Given the description of an element on the screen output the (x, y) to click on. 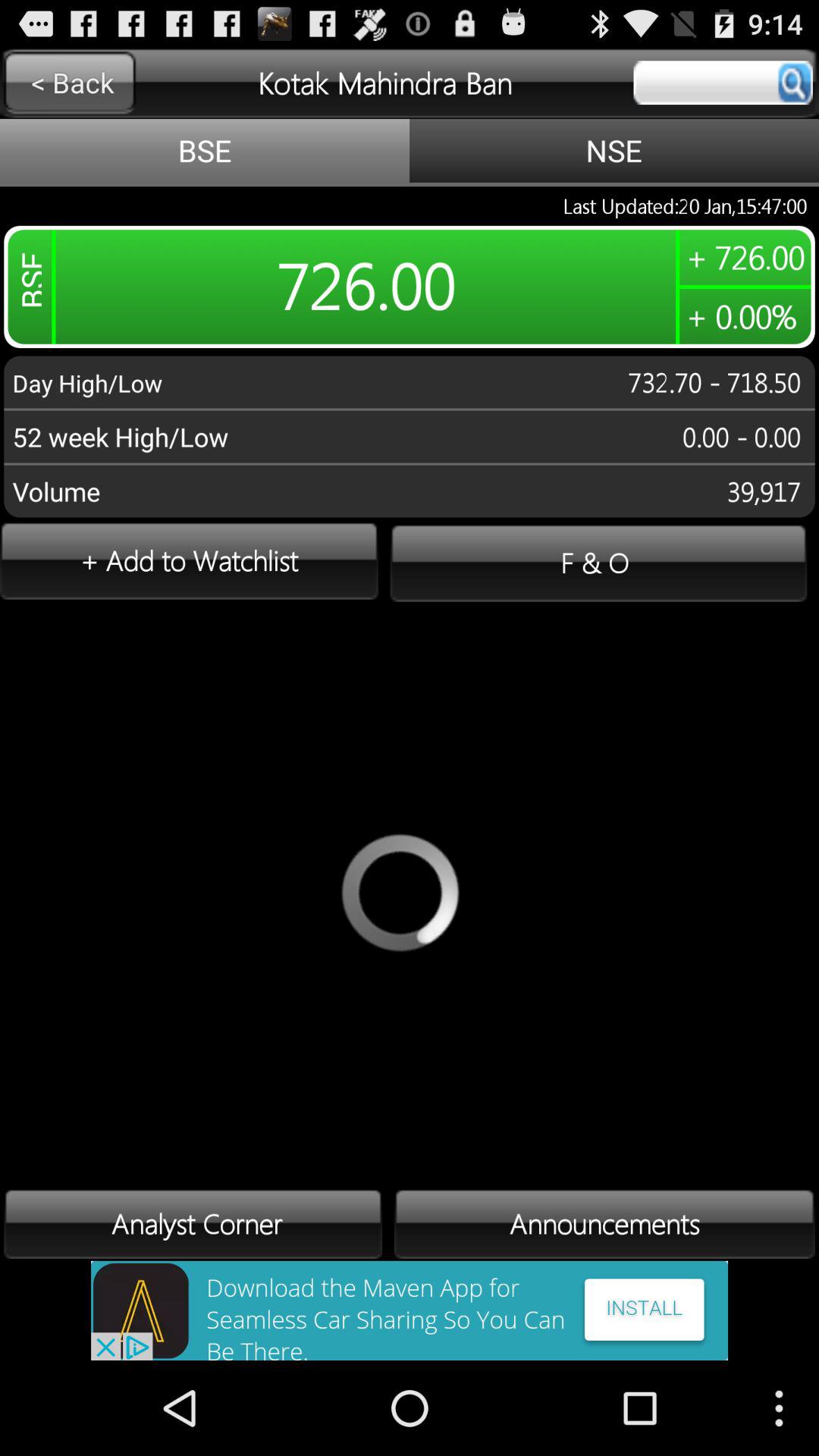
search the content (722, 82)
